Given the description of an element on the screen output the (x, y) to click on. 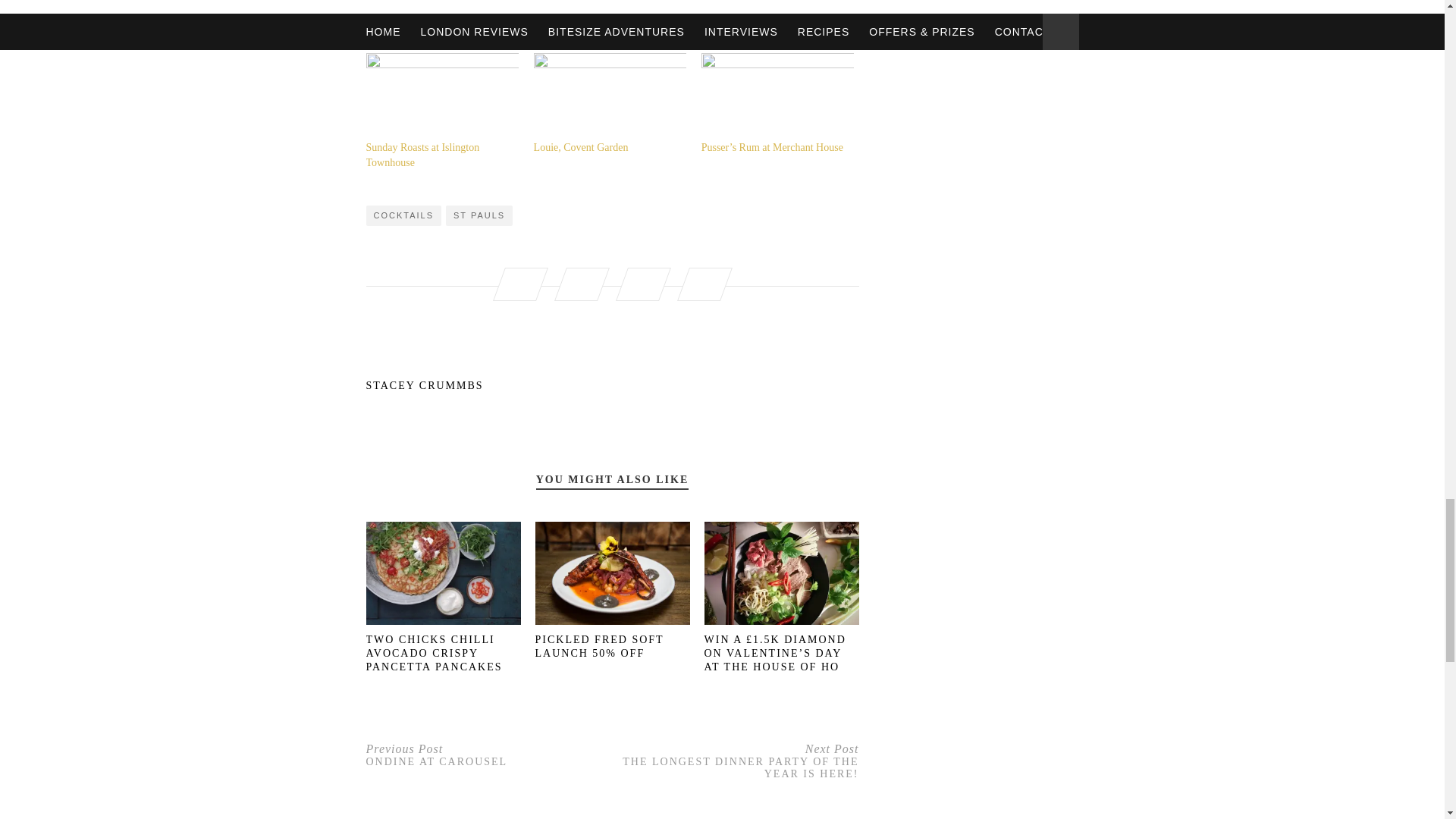
Sunday Roasts at Islington Townhouse (441, 96)
Sunday Roasts at Islington Townhouse (422, 154)
Louie, Covent Garden (609, 96)
Louie, Covent Garden (581, 147)
Posts by Stacey Crummbs (612, 386)
